Given the description of an element on the screen output the (x, y) to click on. 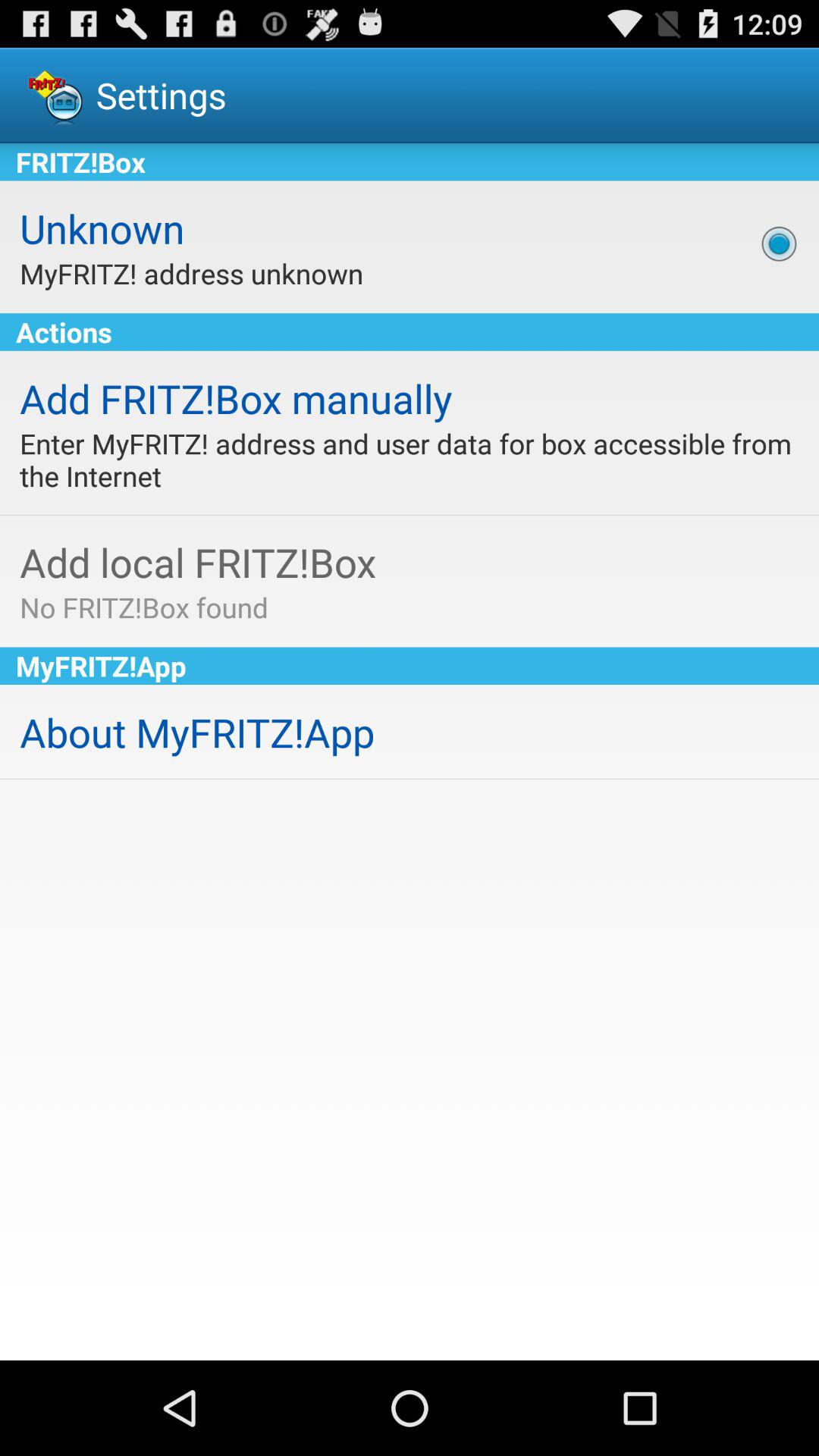
click icon next to the unknown (779, 243)
